Given the description of an element on the screen output the (x, y) to click on. 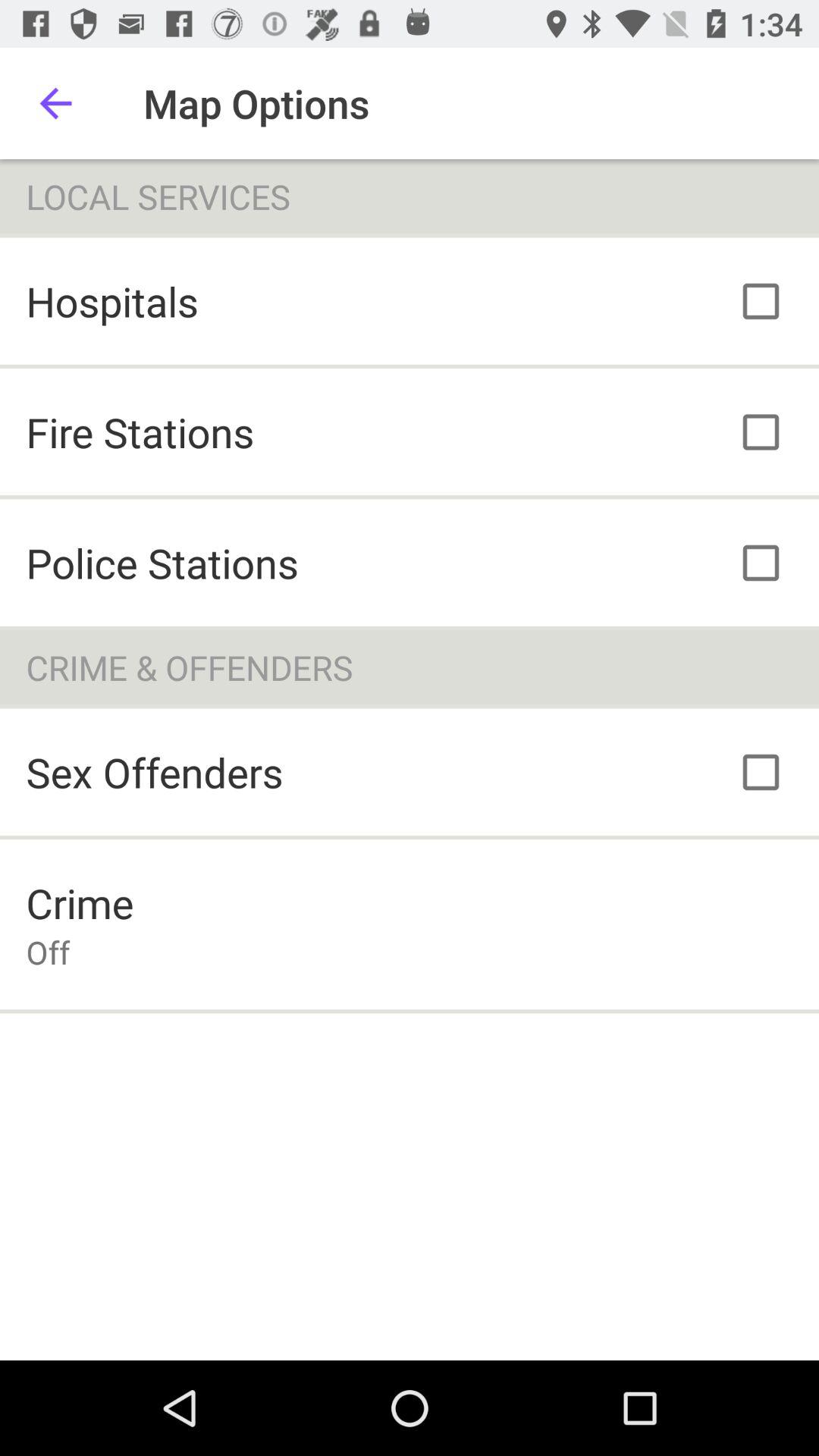
select the icon above the sex offenders (409, 667)
